Given the description of an element on the screen output the (x, y) to click on. 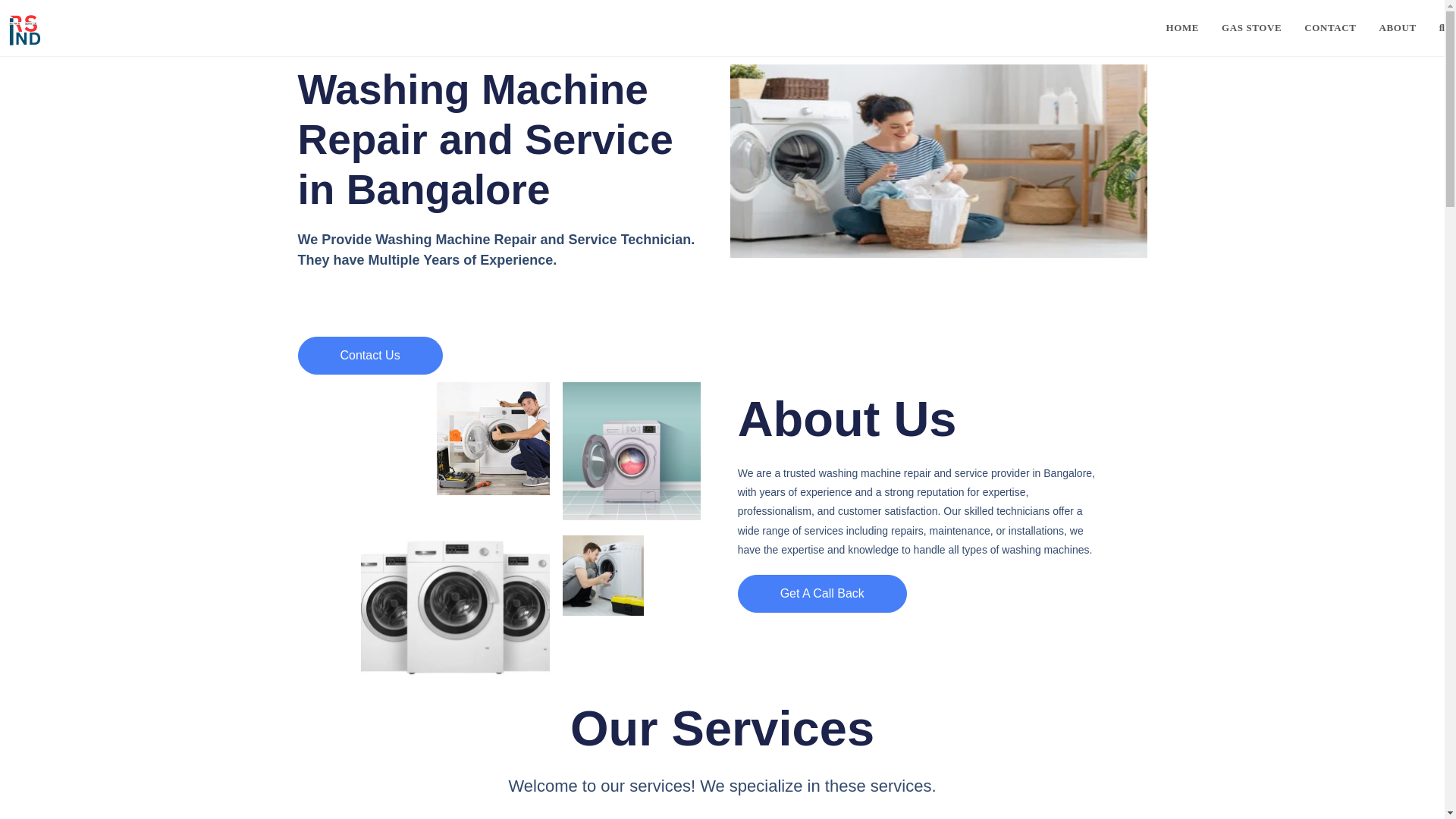
GAS STOVE (1250, 28)
ABOUT (1398, 28)
Get A Call Back (822, 593)
HOME (1181, 28)
CONTACT (1329, 28)
Contact Us (369, 355)
